Given the description of an element on the screen output the (x, y) to click on. 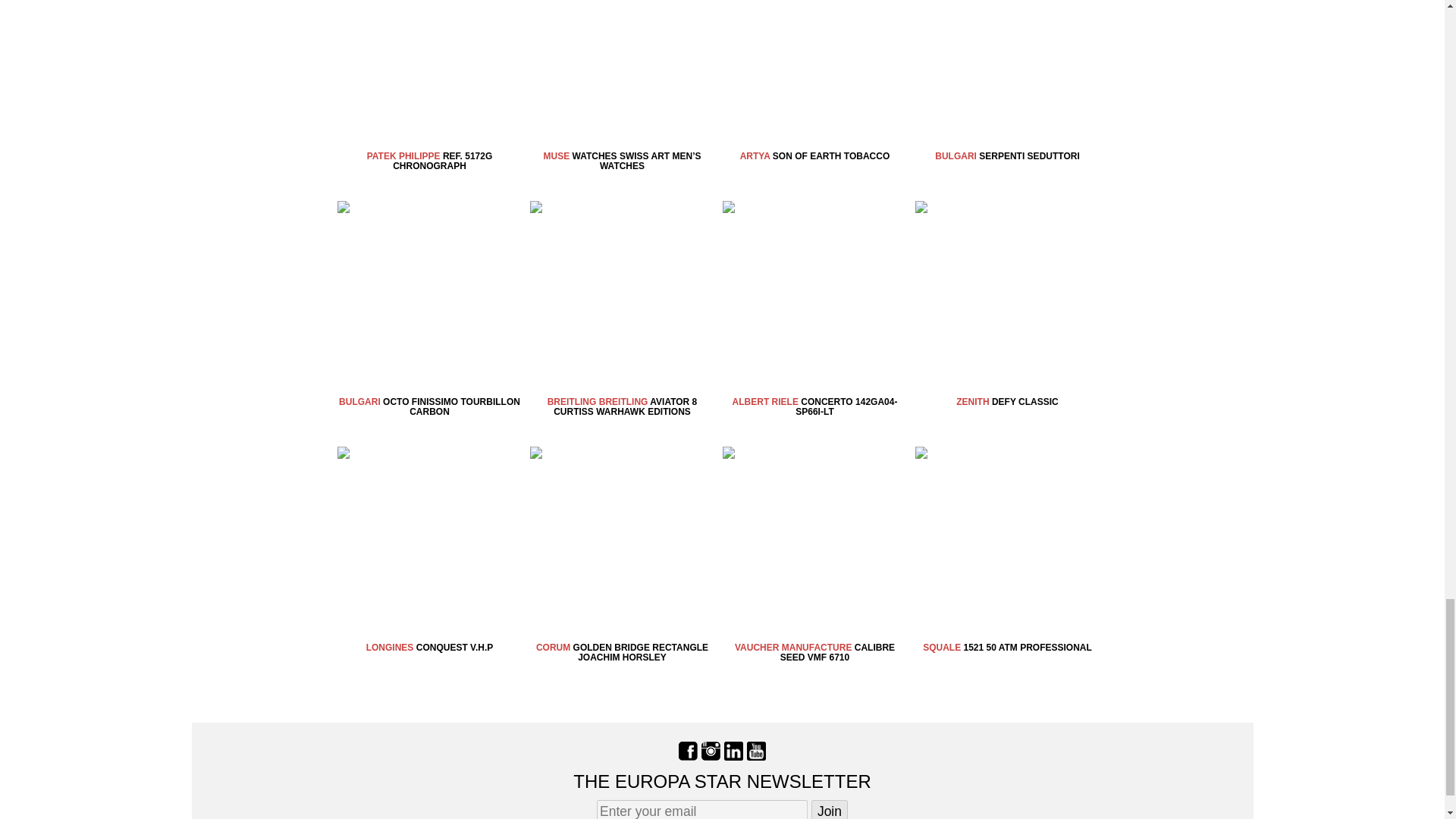
Join (828, 809)
Linkedin (732, 750)
Facebook (687, 750)
Youtube (755, 750)
Instagram (710, 750)
